Given the description of an element on the screen output the (x, y) to click on. 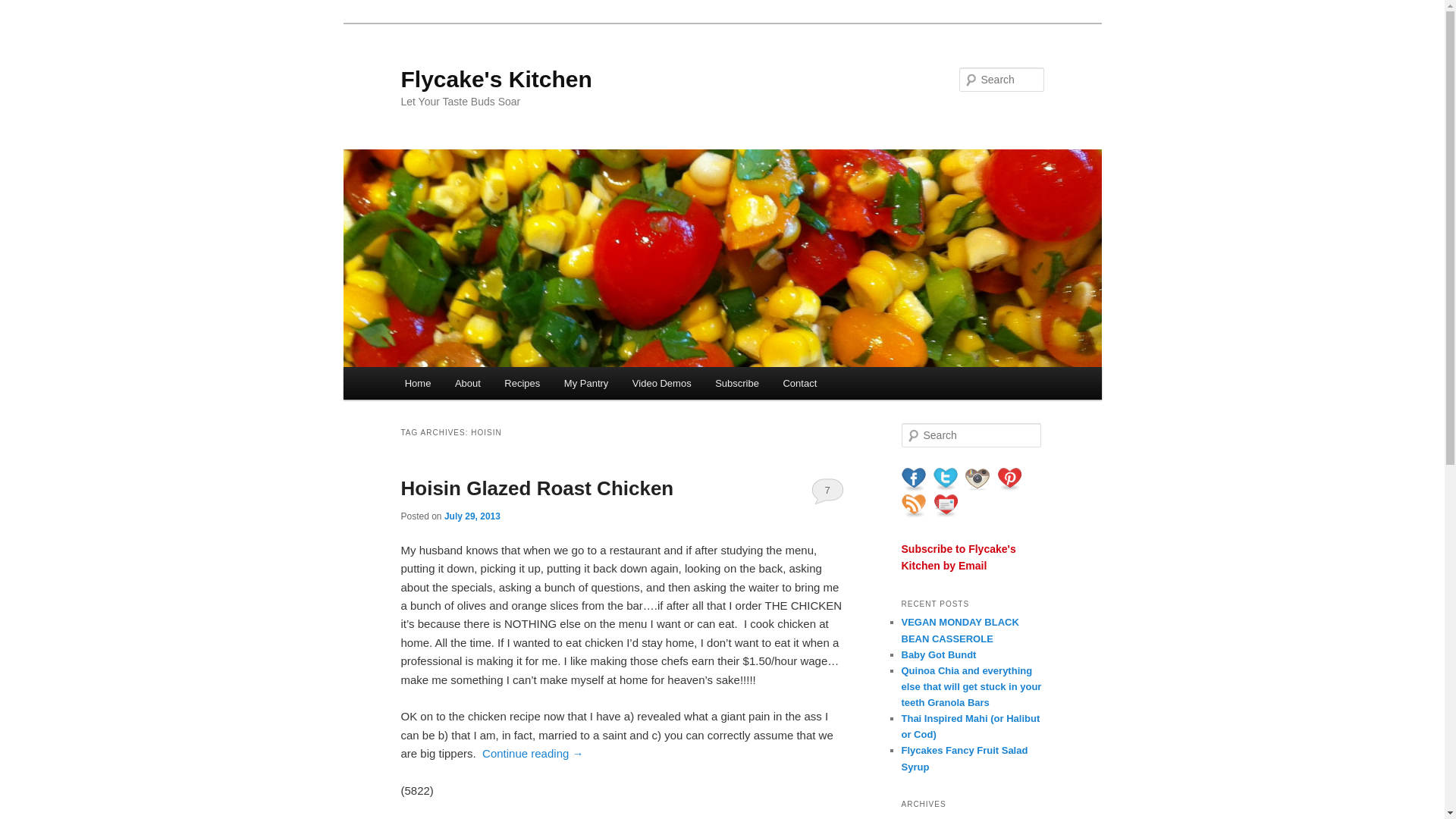
My Pantry (585, 382)
Hoisin Glazed Roast Chicken (536, 487)
 E-mail (944, 505)
 Twitter (944, 478)
7 (827, 490)
 Facebook (912, 478)
July 29, 2013 (472, 516)
 Pinterest (1007, 478)
 Instagram (975, 478)
